Given the description of an element on the screen output the (x, y) to click on. 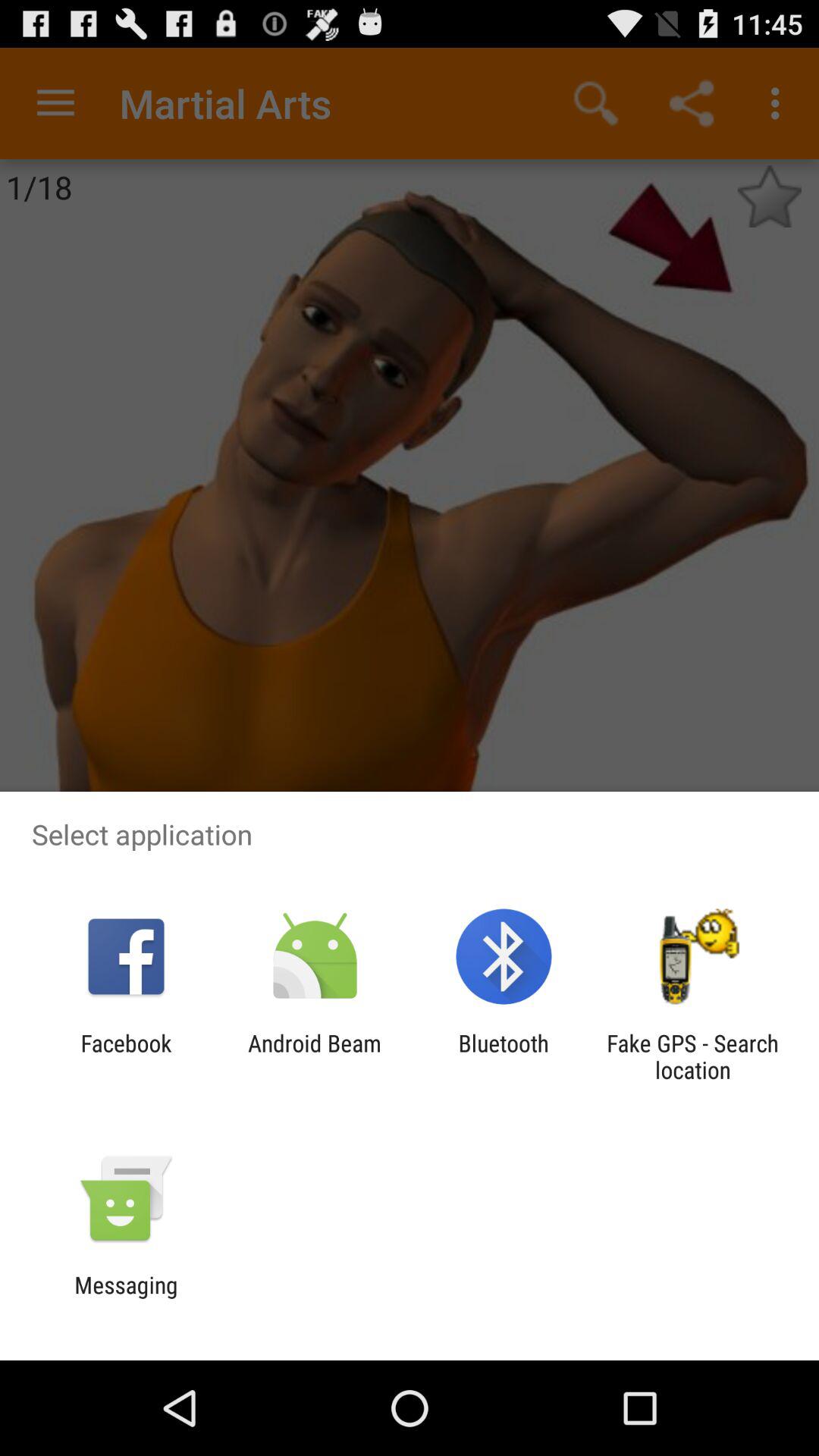
tap the item next to the android beam item (125, 1056)
